Given the description of an element on the screen output the (x, y) to click on. 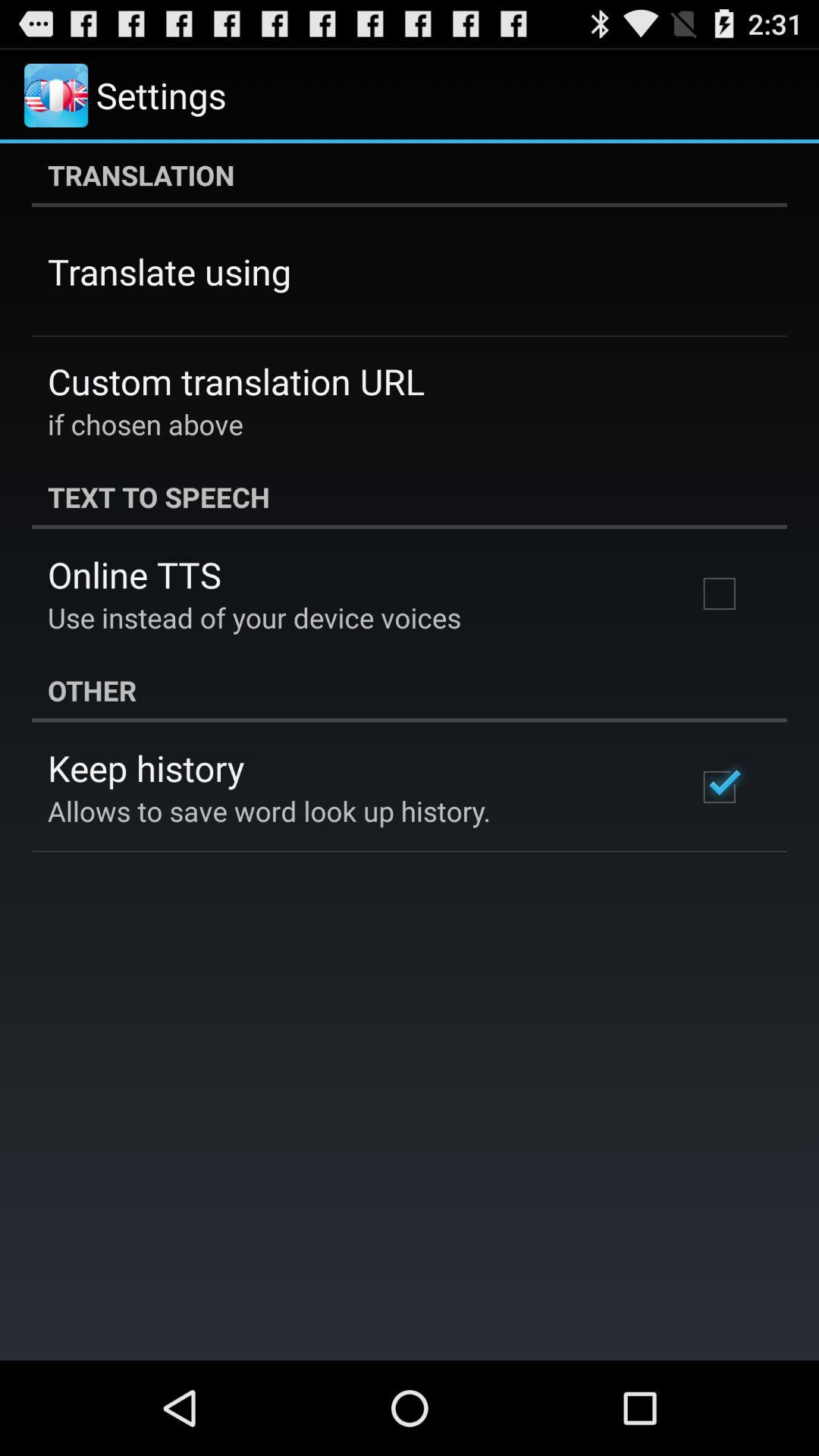
launch icon above if chosen above item (235, 381)
